Given the description of an element on the screen output the (x, y) to click on. 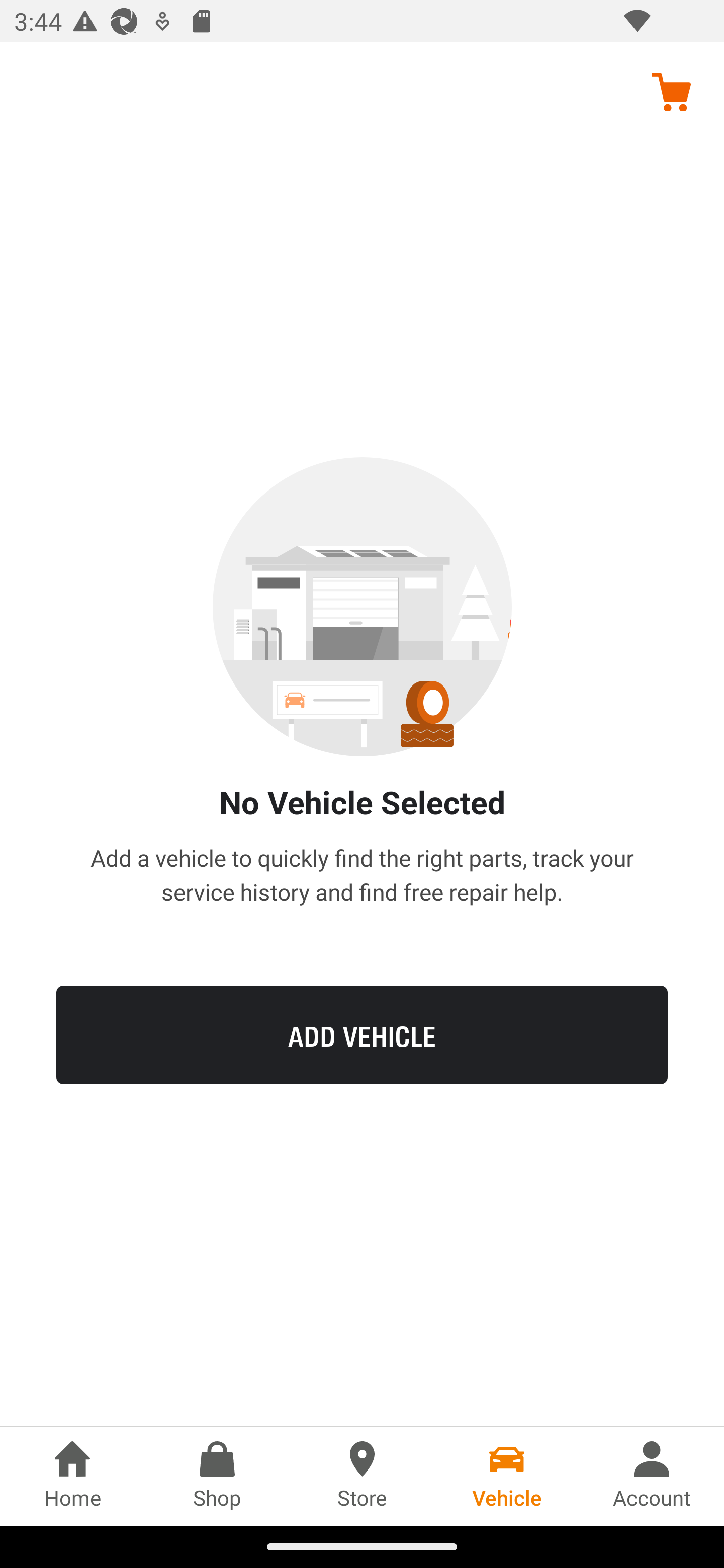
Cart, no items  (670, 91)
ADD VEHICLE (361, 1034)
Home (72, 1475)
Shop (216, 1475)
Store (361, 1475)
Vehicle (506, 1475)
Account (651, 1475)
